Given the description of an element on the screen output the (x, y) to click on. 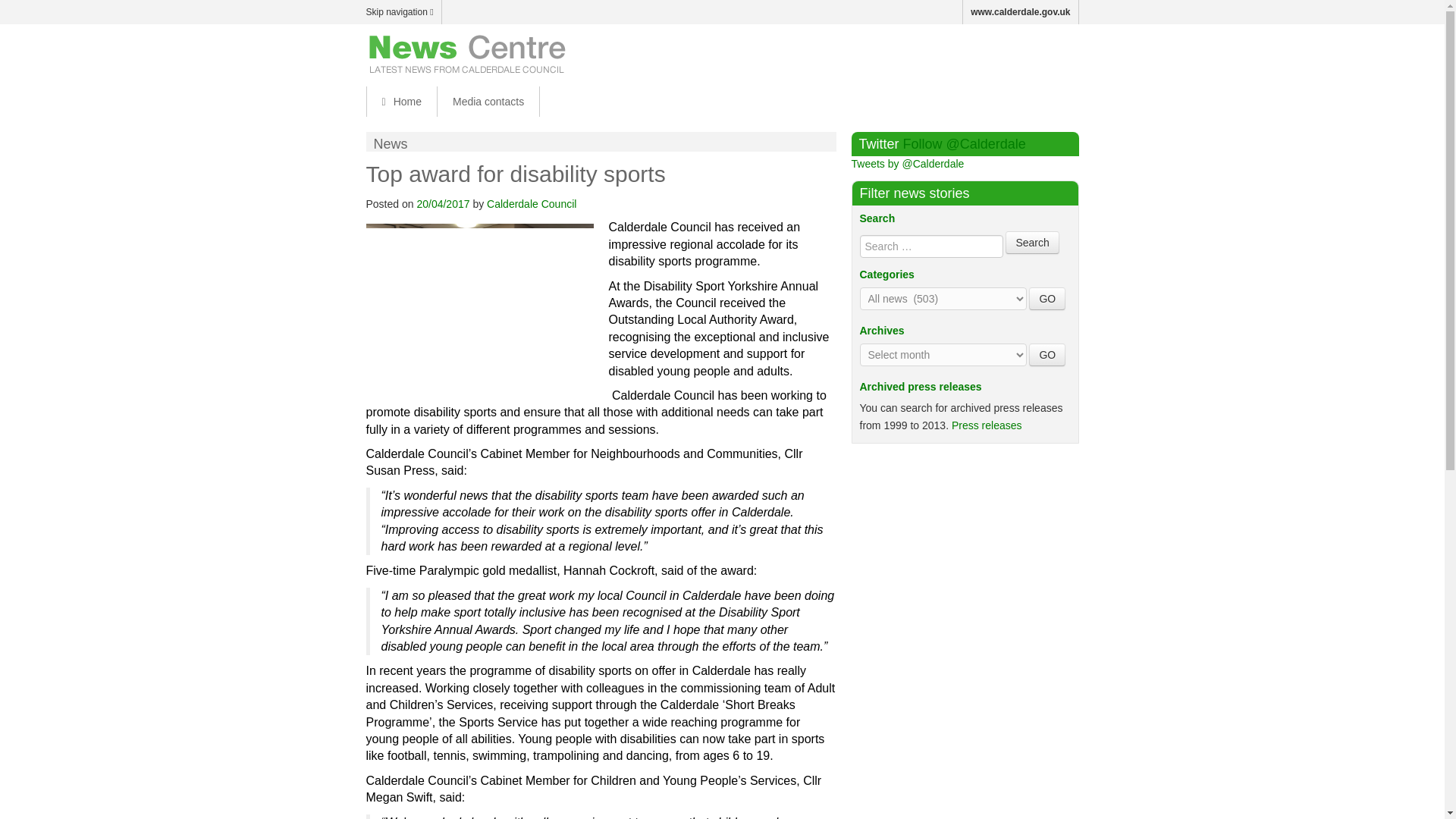
Skip navigation (403, 12)
View all posts by Calderdale Council (531, 203)
GO (1047, 298)
Facebook (1002, 51)
Search (1032, 241)
Media contacts (489, 101)
10:24 am (442, 203)
Calderdale Council (531, 203)
Home (400, 101)
www.calderdale.gov.uk (1020, 12)
